Given the description of an element on the screen output the (x, y) to click on. 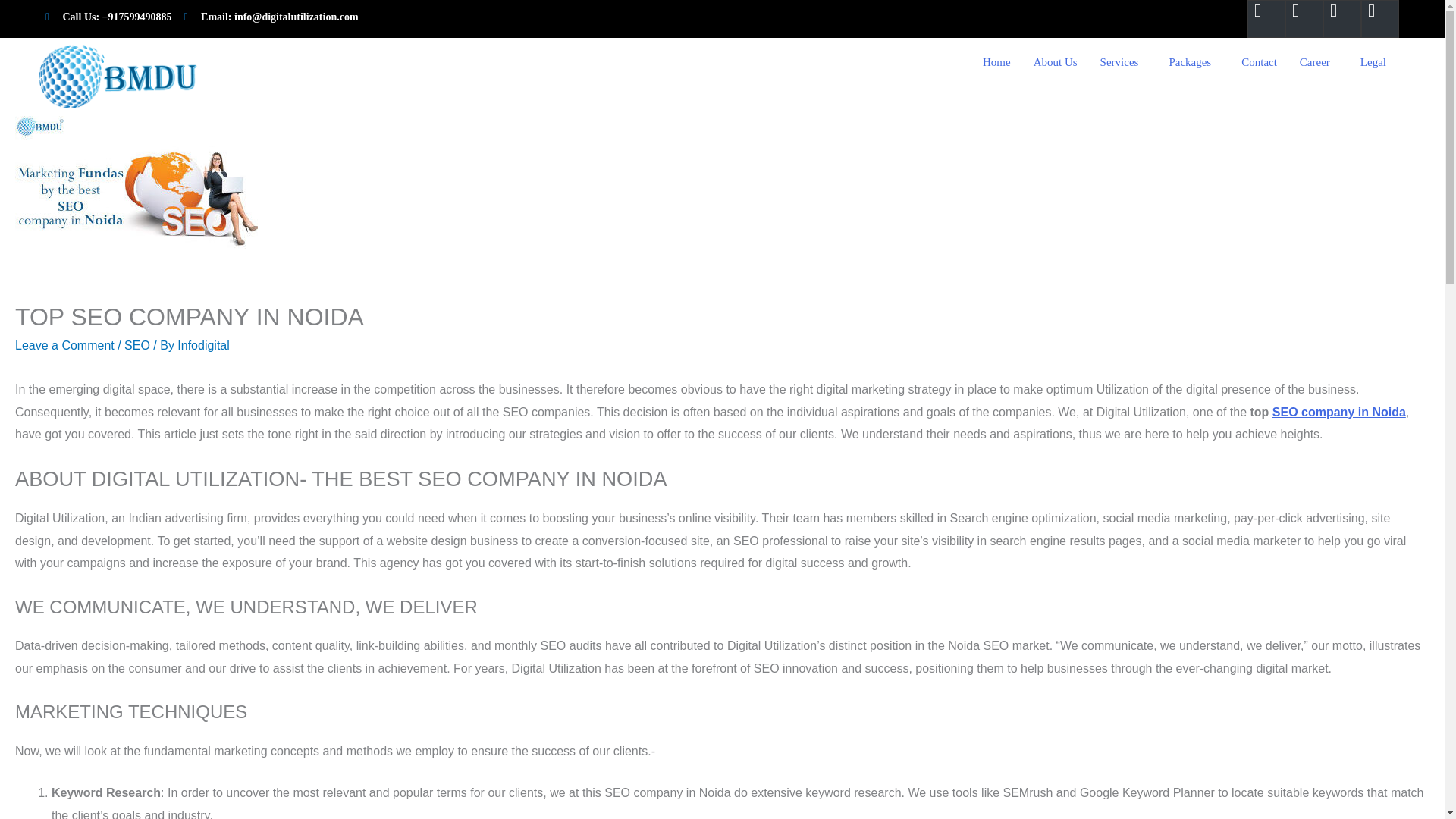
View all posts by Infodigital (203, 345)
Leave a Comment (64, 345)
Legal (1377, 62)
Infodigital (203, 345)
SEO (136, 345)
Packages (1193, 62)
Home (996, 62)
Services (1123, 62)
SEO company in Noida (1339, 411)
Contact (1259, 62)
